Given the description of an element on the screen output the (x, y) to click on. 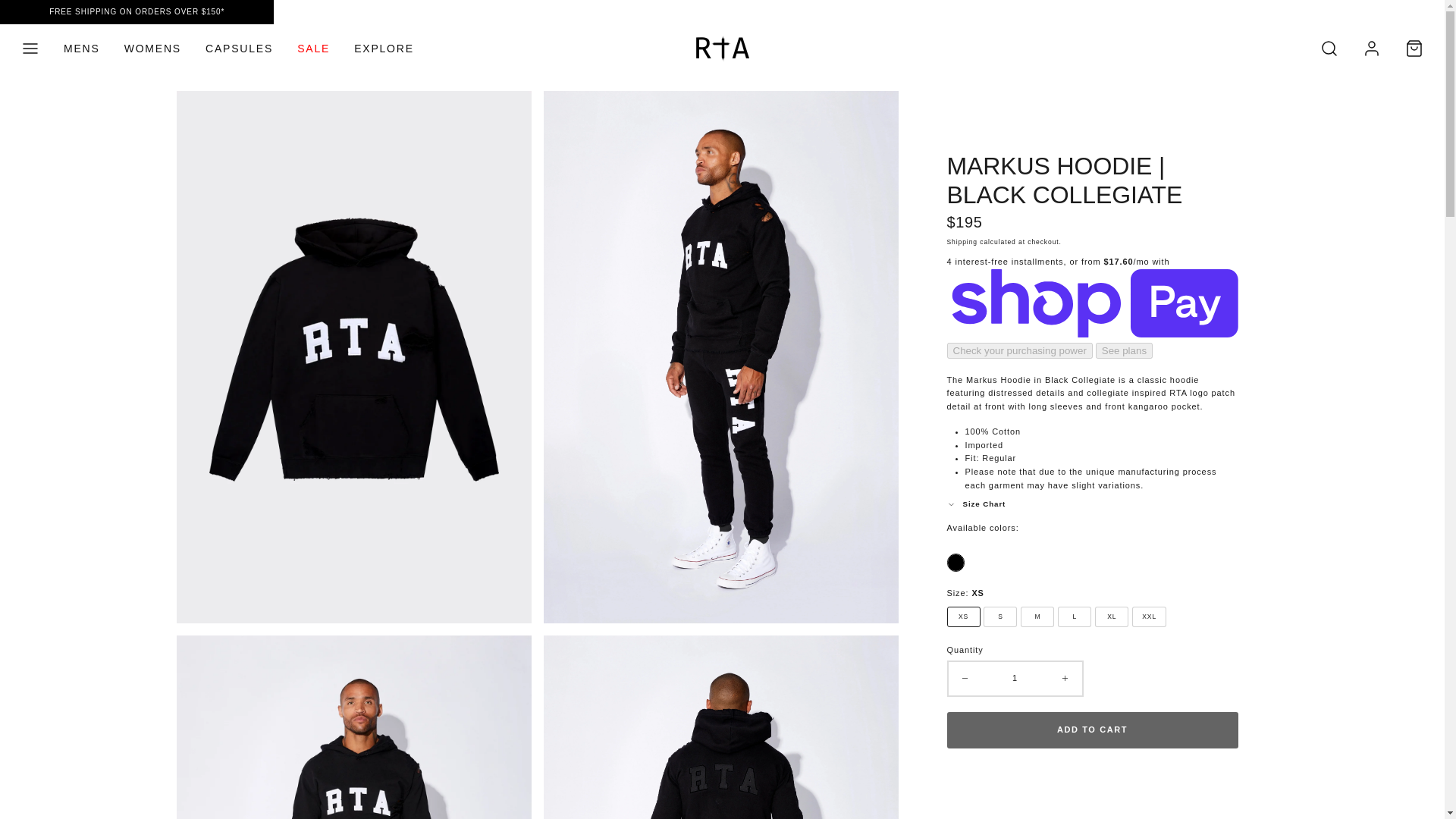
SEARCH (1329, 48)
WOMENS (152, 48)
CAPSULES (239, 48)
MENS (82, 48)
ACCOUNT (1372, 48)
1 (1014, 678)
EXPLORE (384, 48)
SALE (313, 48)
MENU (29, 48)
